Given the description of an element on the screen output the (x, y) to click on. 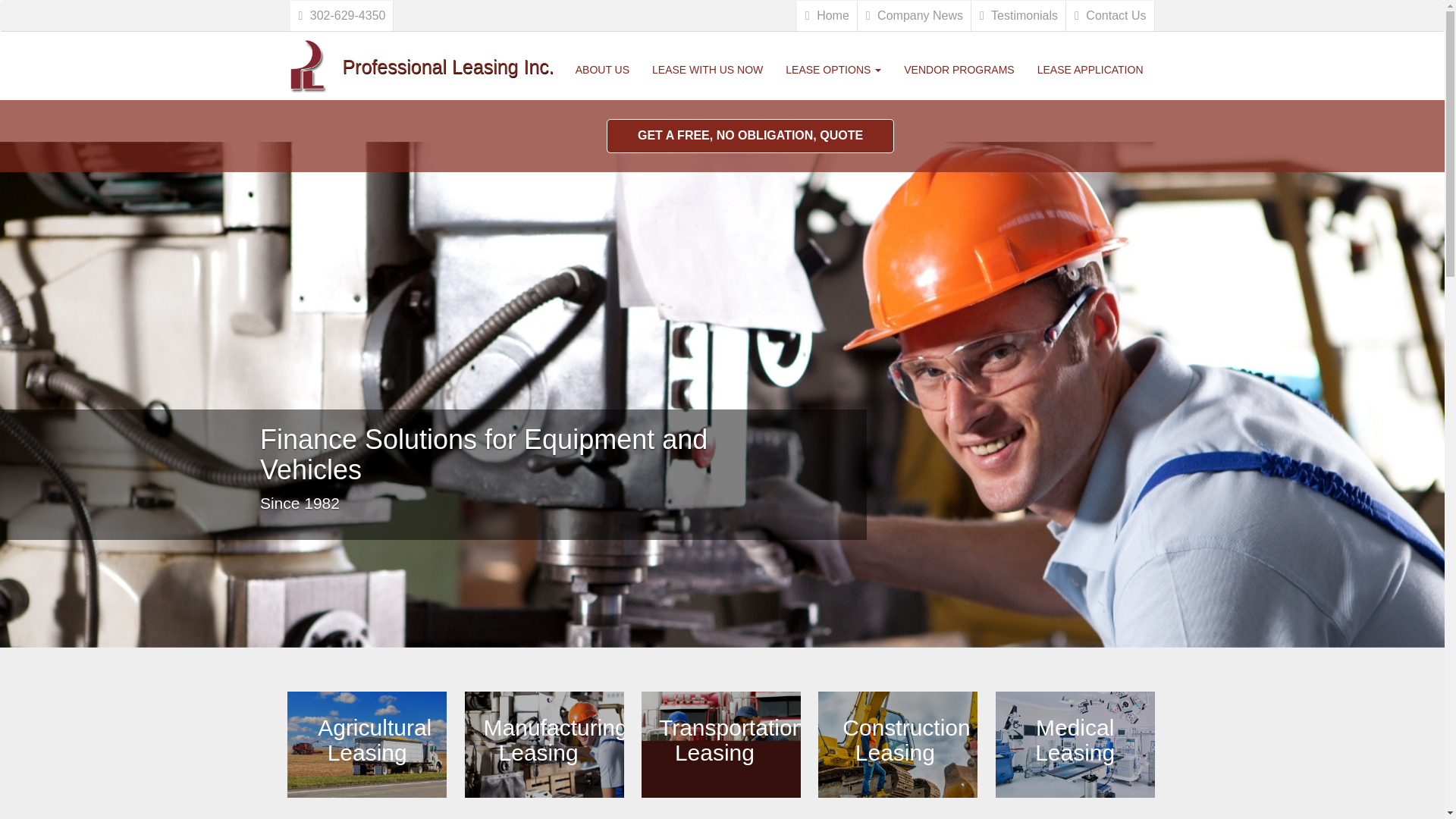
302-629-4350 (341, 15)
GET A FREE, NO OBLIGATION, QUOTE (750, 135)
Home (826, 15)
LEASE WITH US NOW (707, 69)
LEASE APPLICATION (1090, 69)
Professional Leasing Inc. (432, 50)
VENDOR PROGRAMS (958, 69)
Contact Us (1109, 15)
Company News (914, 15)
LEASE OPTIONS (833, 69)
